Given the description of an element on the screen output the (x, y) to click on. 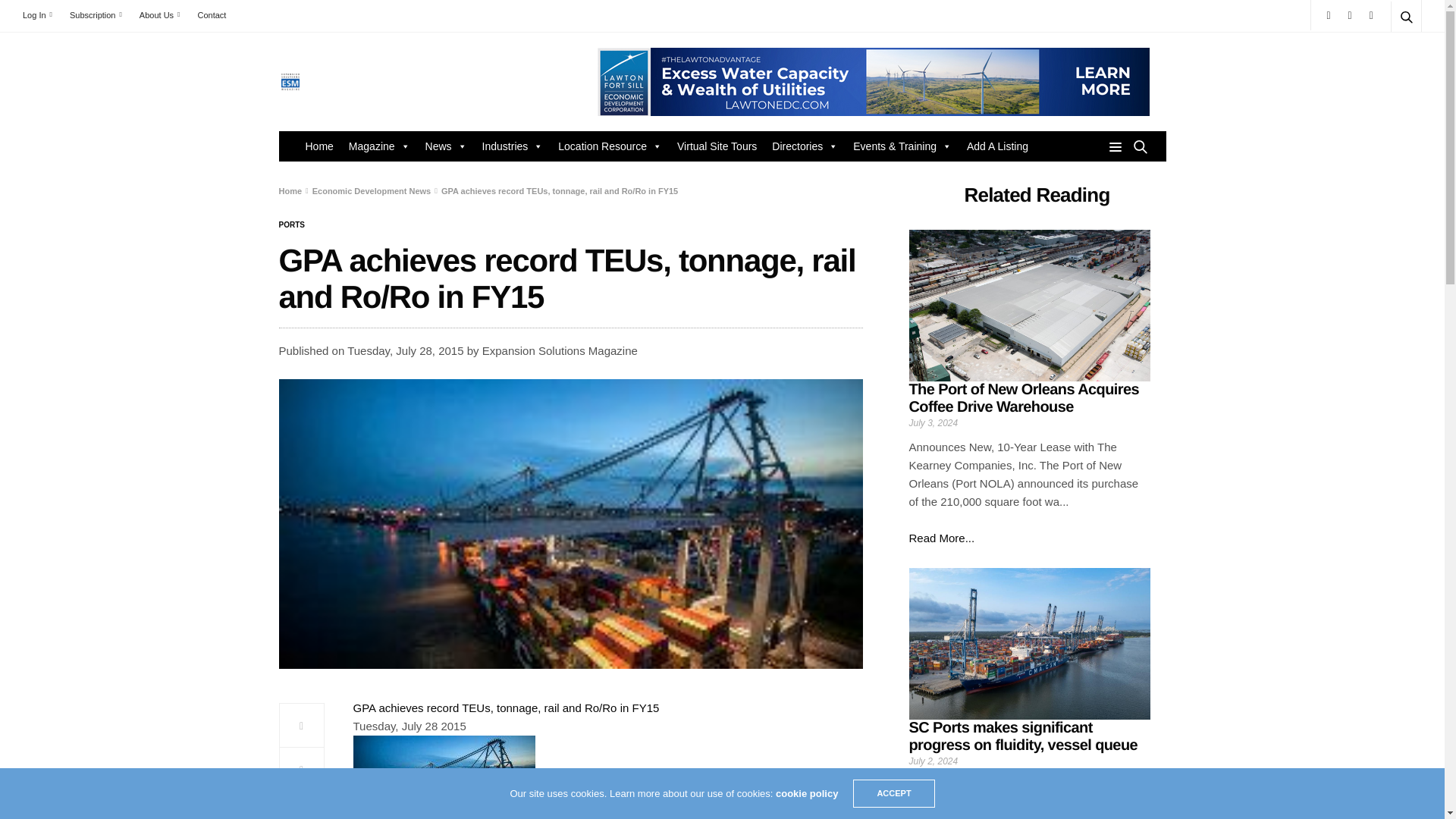
Magazine (378, 146)
Home (318, 146)
News (445, 146)
Log In (41, 15)
Ports (291, 225)
Contact (210, 15)
Subscription (95, 15)
About Us (159, 15)
Search (1386, 53)
